Given the description of an element on the screen output the (x, y) to click on. 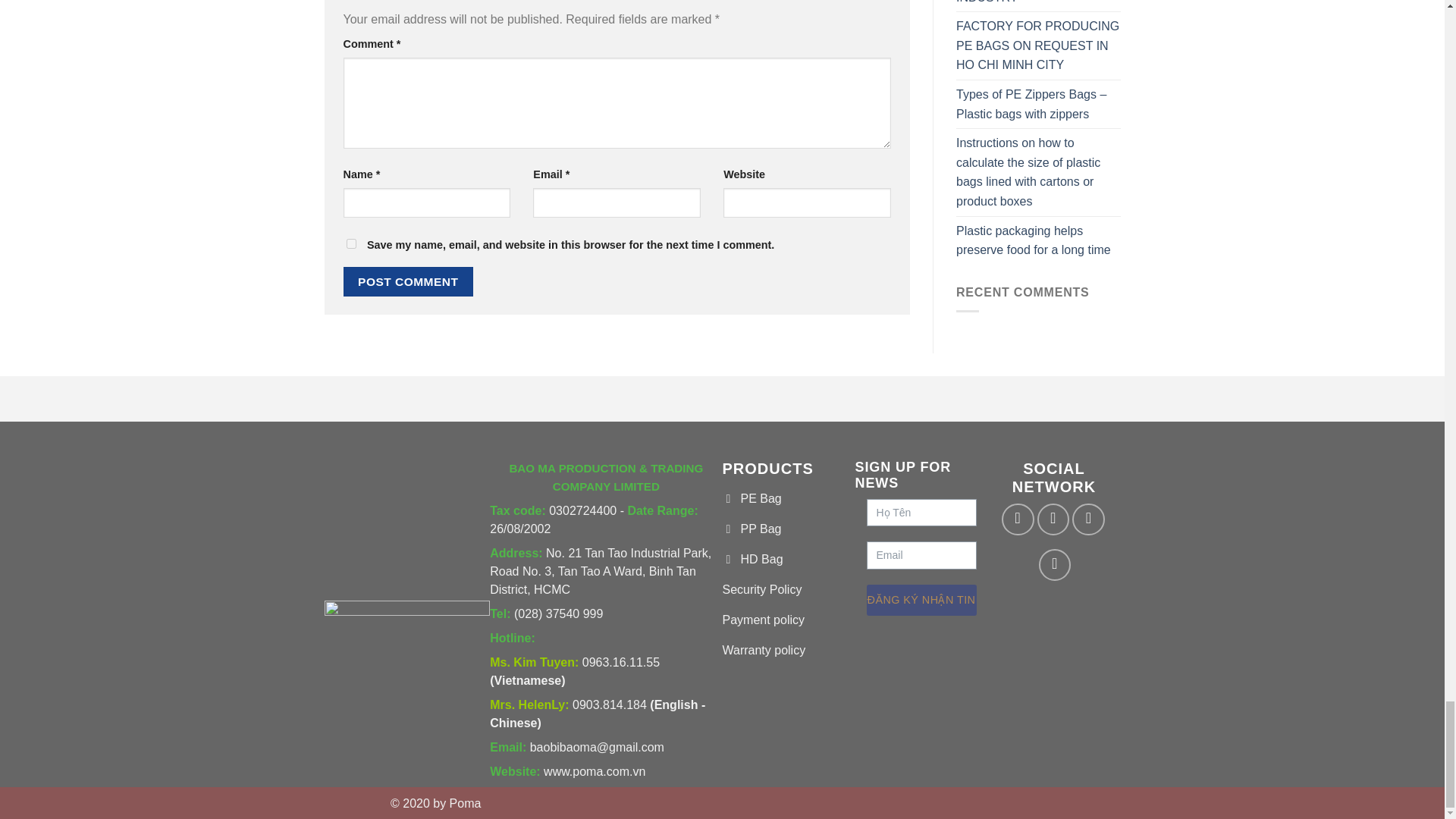
Follow on Twitter (1088, 519)
Follow on YouTube (1055, 564)
Post Comment (407, 281)
Follow on Instagram (1053, 519)
Follow on Facebook (1017, 519)
yes (350, 243)
